Given the description of an element on the screen output the (x, y) to click on. 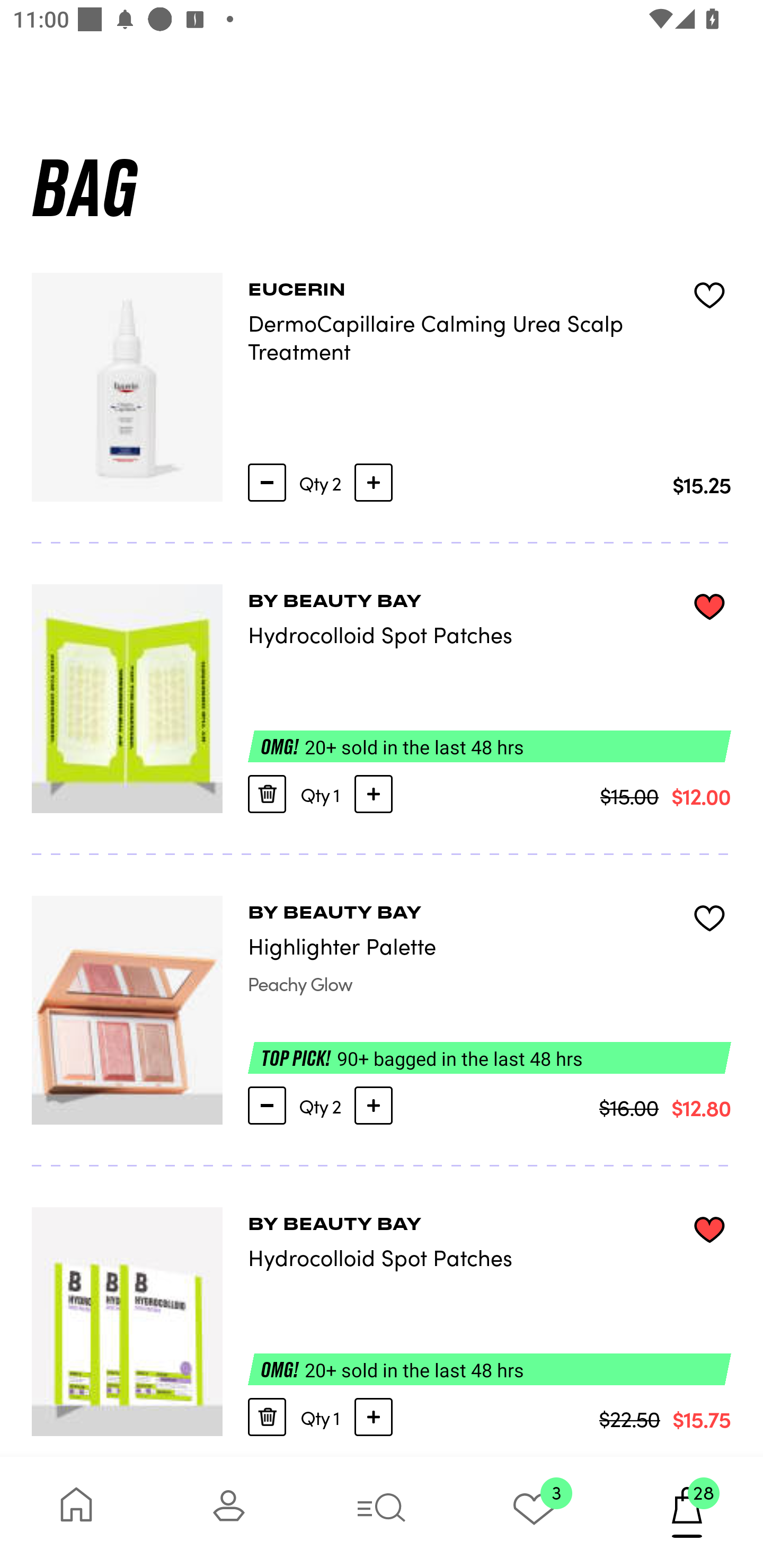
3 (533, 1512)
28 (686, 1512)
